Given the description of an element on the screen output the (x, y) to click on. 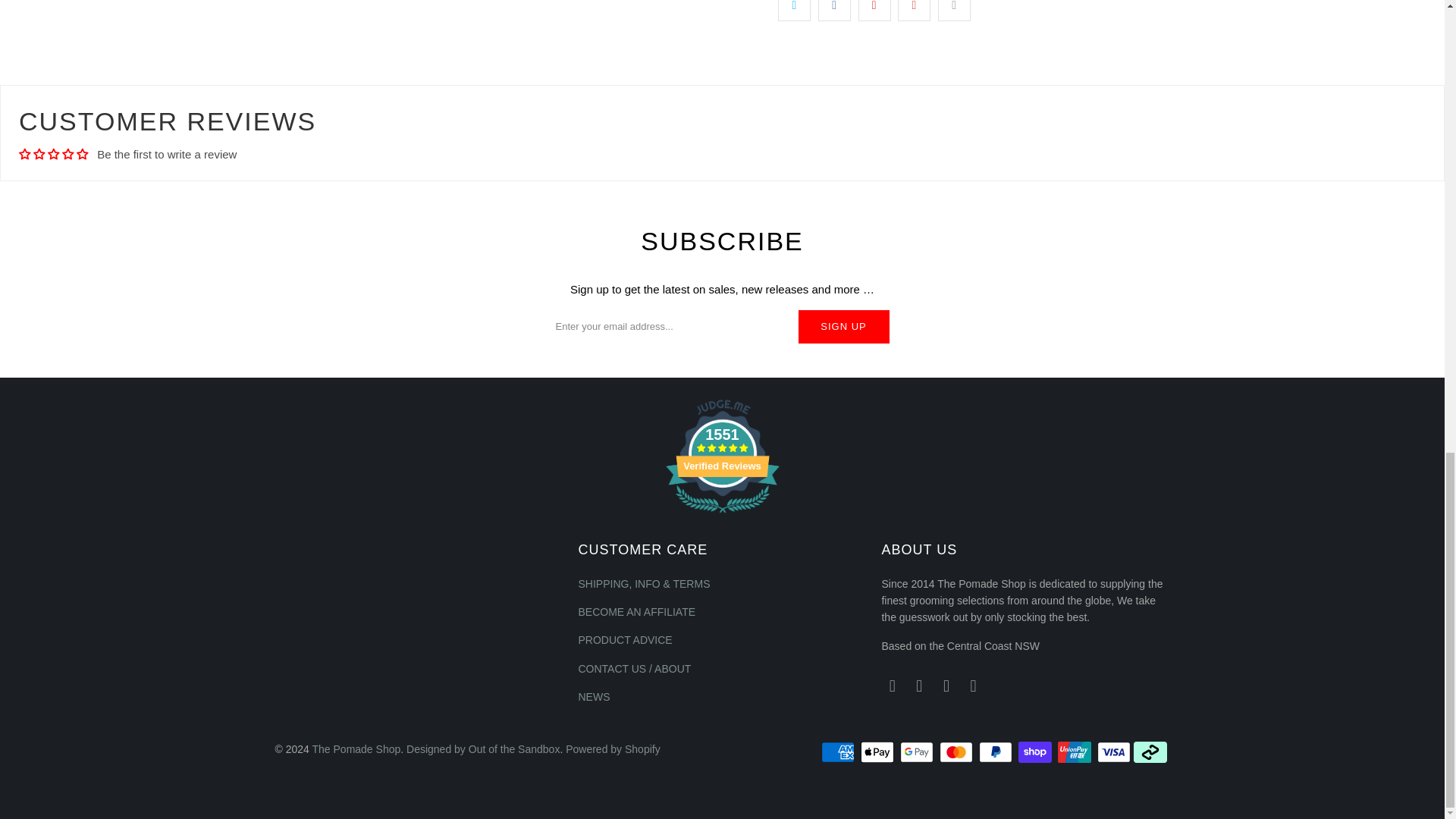
Union Pay (1076, 752)
PayPal (996, 752)
Shop Pay (1035, 752)
Share this on Pinterest (875, 10)
Sign Up (842, 326)
Mastercard (957, 752)
American Express (839, 752)
Google Pay (917, 752)
Apple Pay (878, 752)
Share this on Facebook (834, 10)
Share this on Twitter (793, 10)
Email this to a friend (954, 10)
The Pomade Shop on Twitter (892, 686)
Visa (1114, 752)
